Given the description of an element on the screen output the (x, y) to click on. 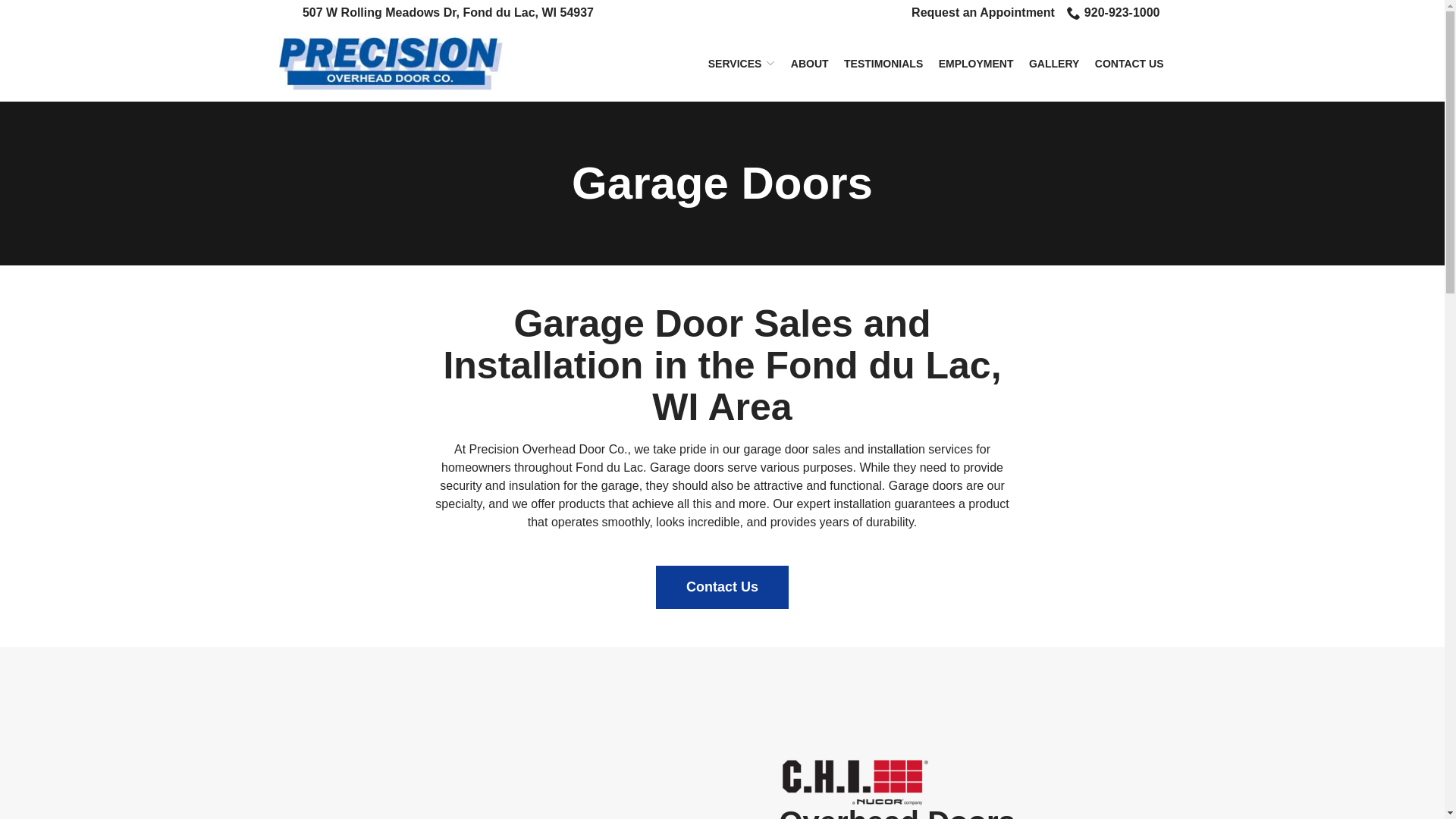
Request an Appointment (982, 13)
EMPLOYMENT (976, 63)
507 W Rolling Meadows Dr, Fond du Lac, WI 54937 (448, 13)
GALLERY (1053, 63)
920-923-1000 (1113, 13)
SERVICES (741, 63)
TESTIMONIALS (883, 63)
CONTACT US (1128, 63)
Contact Us (722, 587)
ABOUT (809, 63)
